Given the description of an element on the screen output the (x, y) to click on. 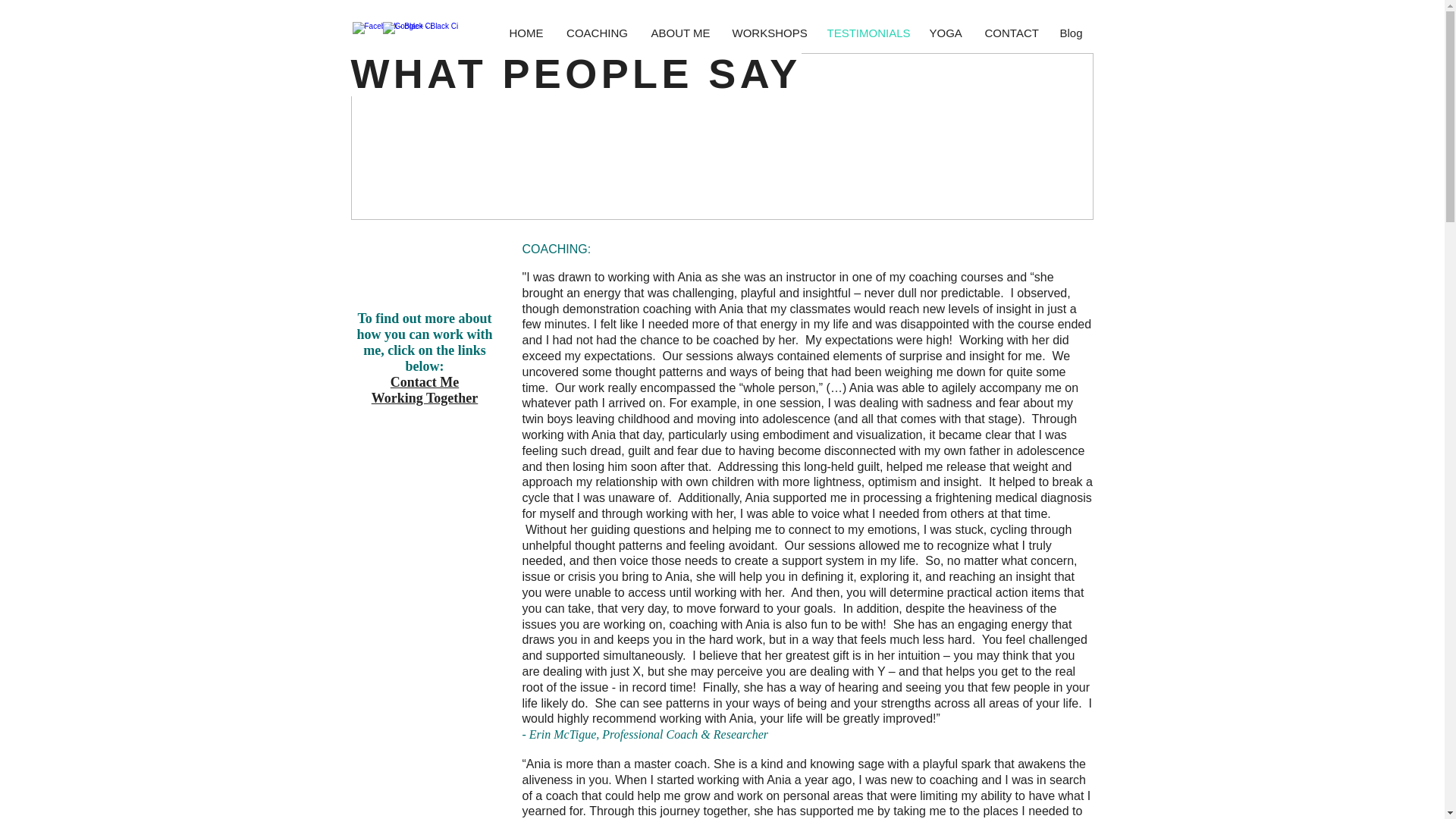
Working Together (425, 397)
CONTACT (1011, 32)
Blog (1070, 32)
TESTIMONIALS (866, 32)
YOGA (944, 32)
HOME (525, 32)
WORKSHOPS (767, 32)
Contact Me (424, 381)
COACHING (597, 32)
ABOUT ME (680, 32)
